Given the description of an element on the screen output the (x, y) to click on. 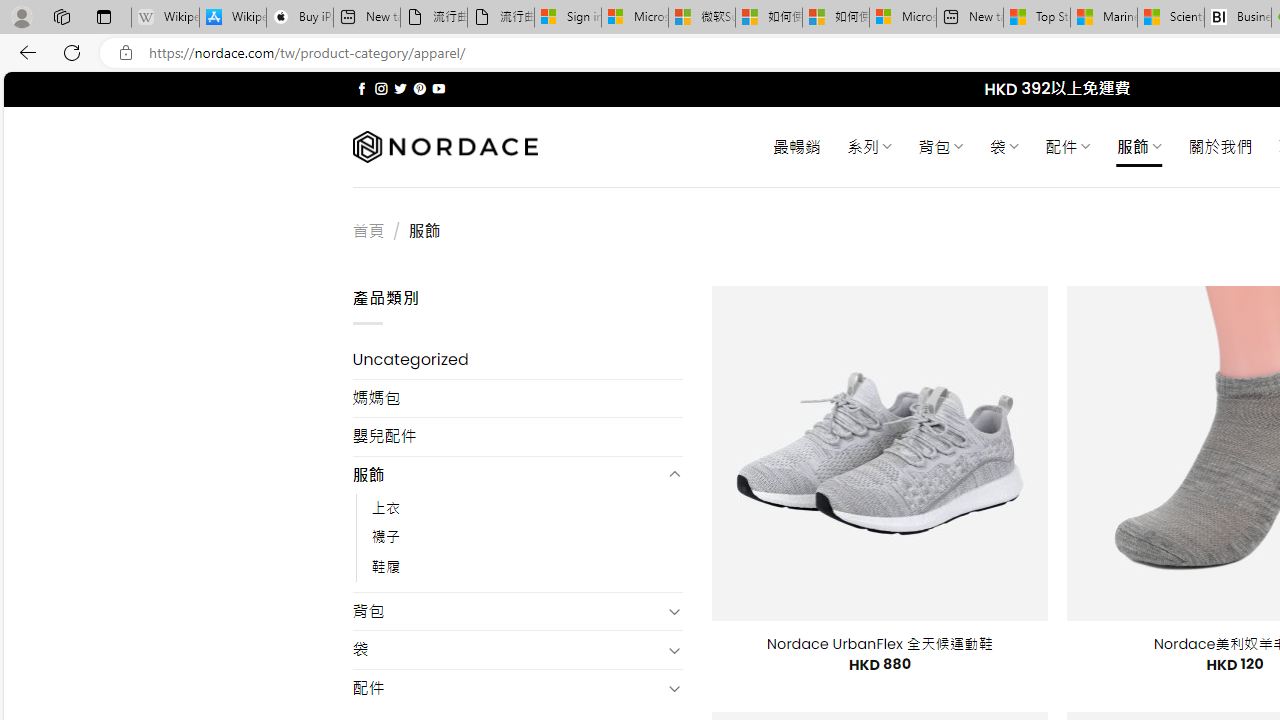
Follow on YouTube (438, 88)
